Given the description of an element on the screen output the (x, y) to click on. 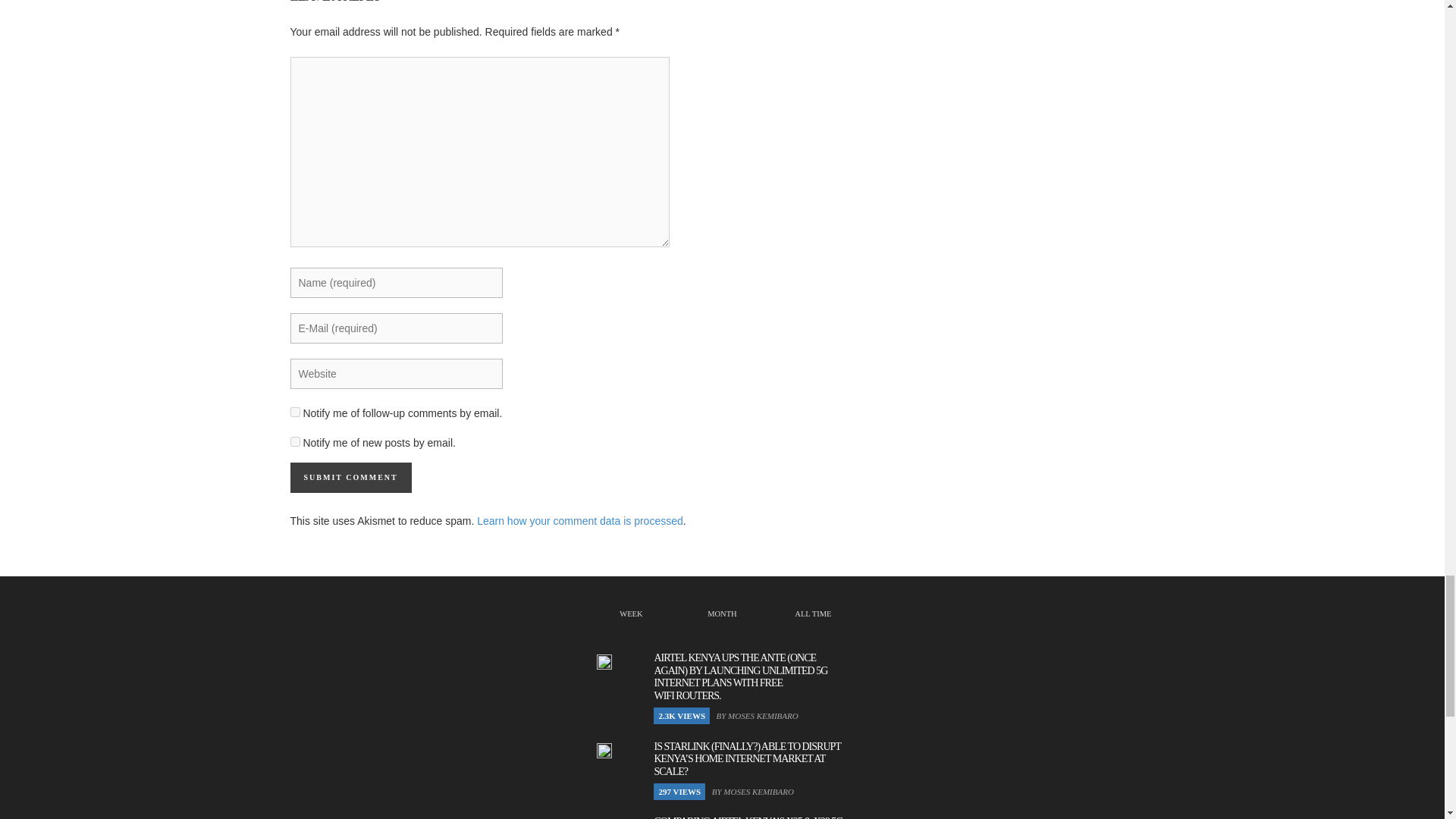
subscribe (294, 411)
Submit comment (349, 477)
subscribe (294, 441)
